Given the description of an element on the screen output the (x, y) to click on. 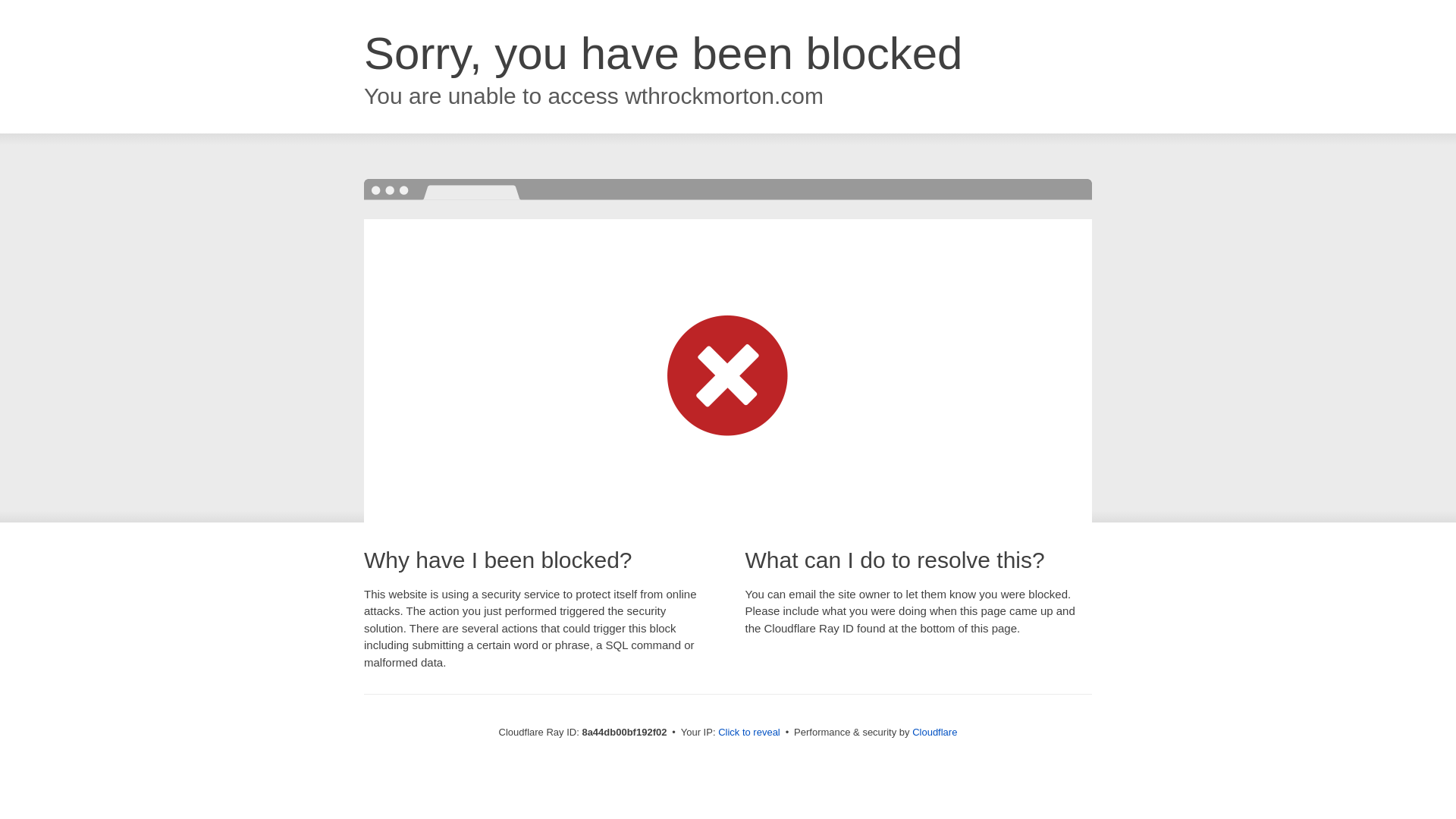
Cloudflare (934, 731)
Click to reveal (748, 732)
